Given the description of an element on the screen output the (x, y) to click on. 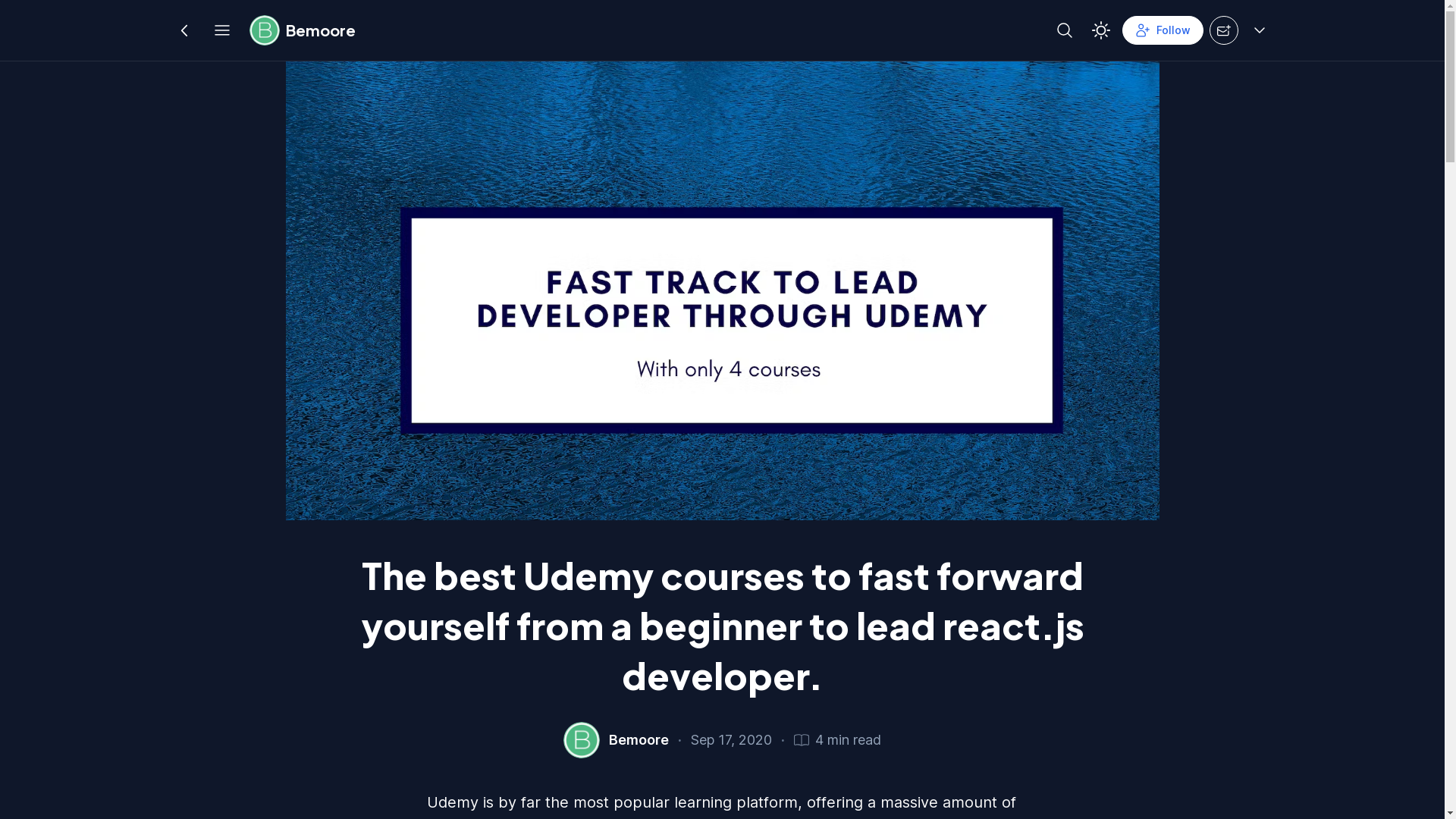
Sep 17, 2020 Element type: text (730, 739)
Follow Element type: text (1162, 29)
Bemoore Element type: text (638, 739)
Bemoore Element type: text (301, 30)
